Given the description of an element on the screen output the (x, y) to click on. 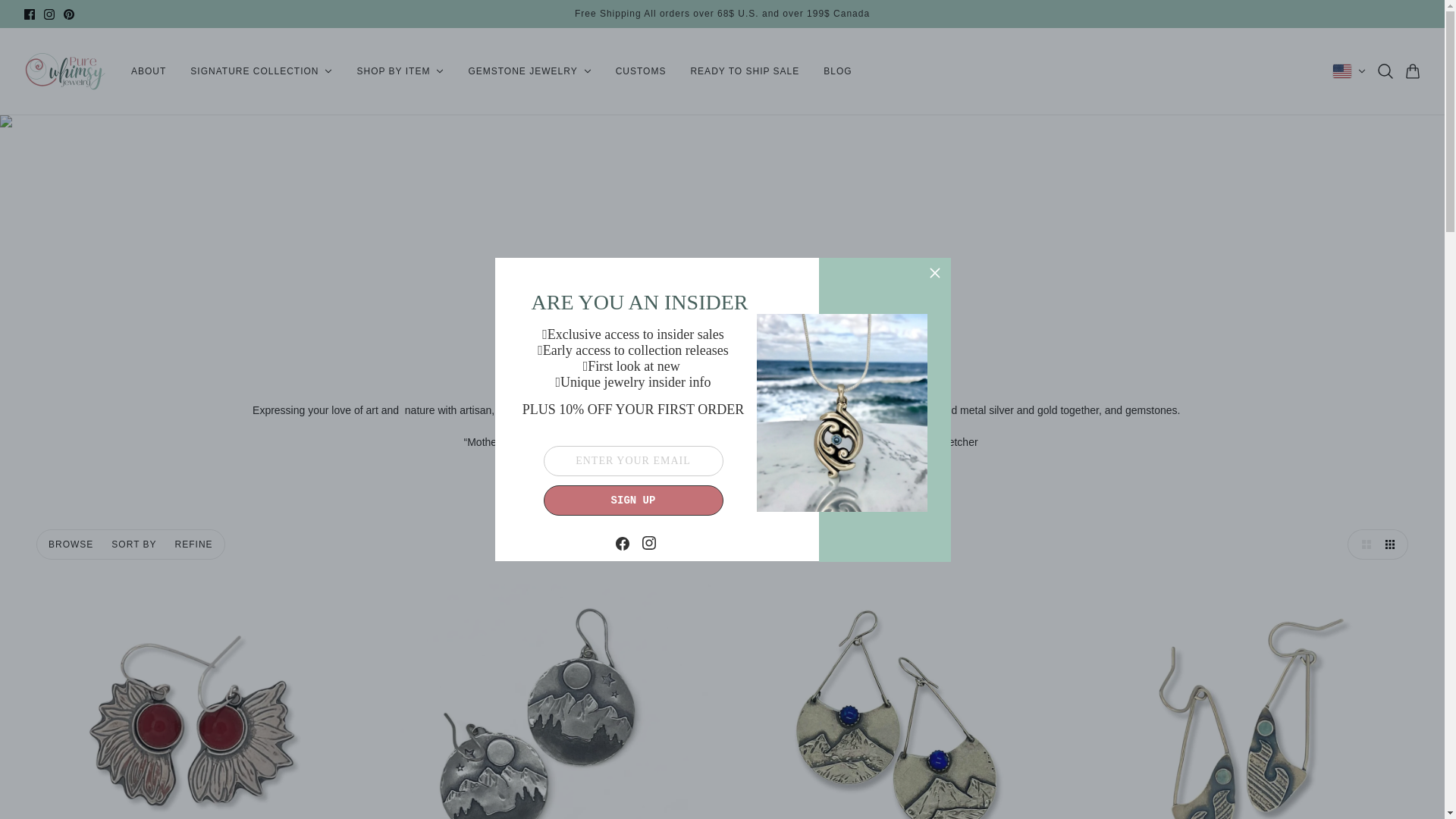
READY TO SHIP SALE (744, 70)
GEMSTONE JEWELRY (528, 70)
Pure Whimsy Jewelry (65, 71)
SHOP BY ITEM (399, 70)
SIGNATURE COLLECTION (260, 70)
